Given the description of an element on the screen output the (x, y) to click on. 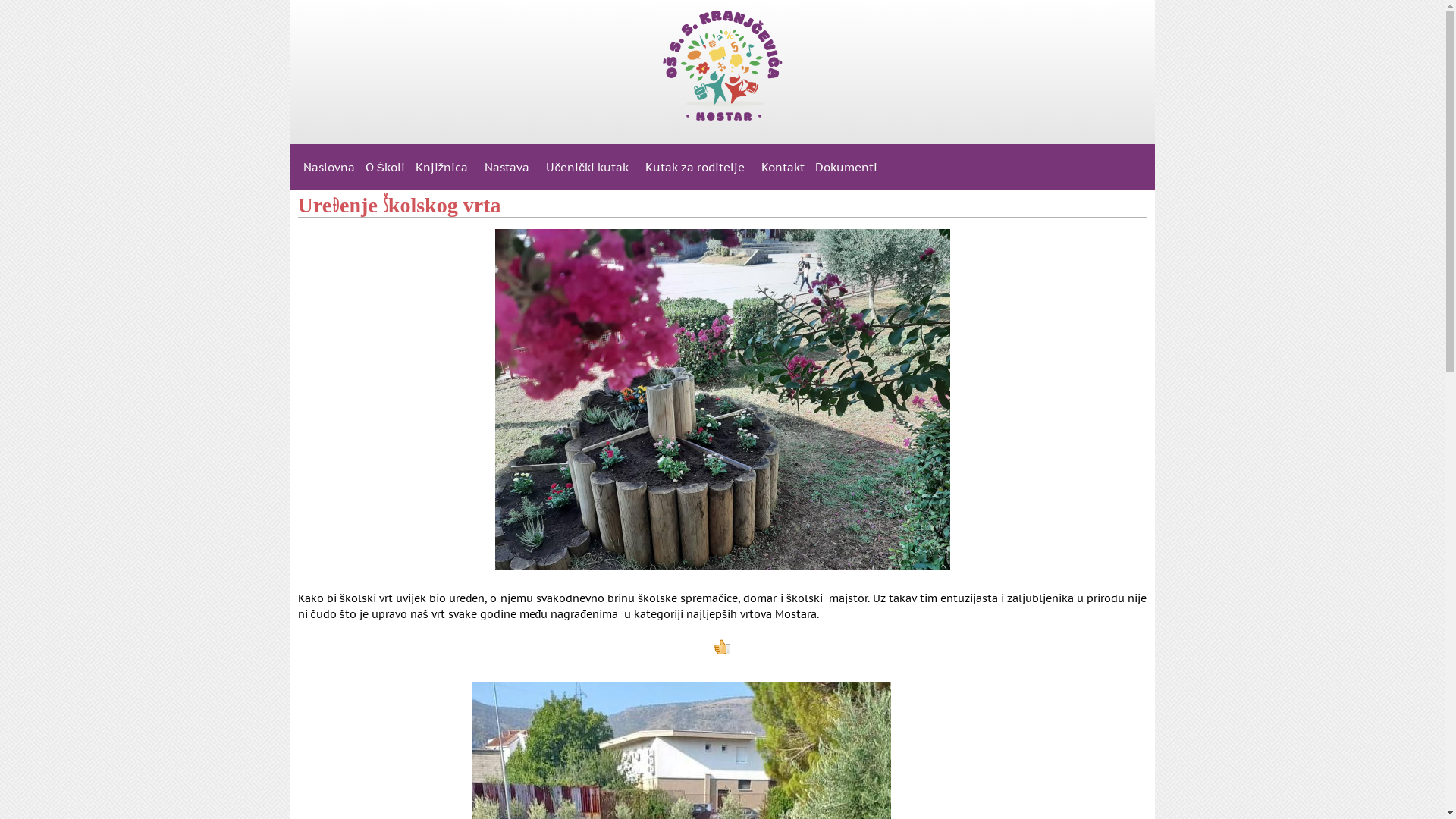
yes Element type: hover (722, 646)
Kontakt Element type: text (782, 166)
Naslovna Element type: text (328, 166)
Nastava Element type: text (509, 166)
Dokumenti Element type: text (845, 166)
Kutak za roditelje Element type: text (698, 166)
